Given the description of an element on the screen output the (x, y) to click on. 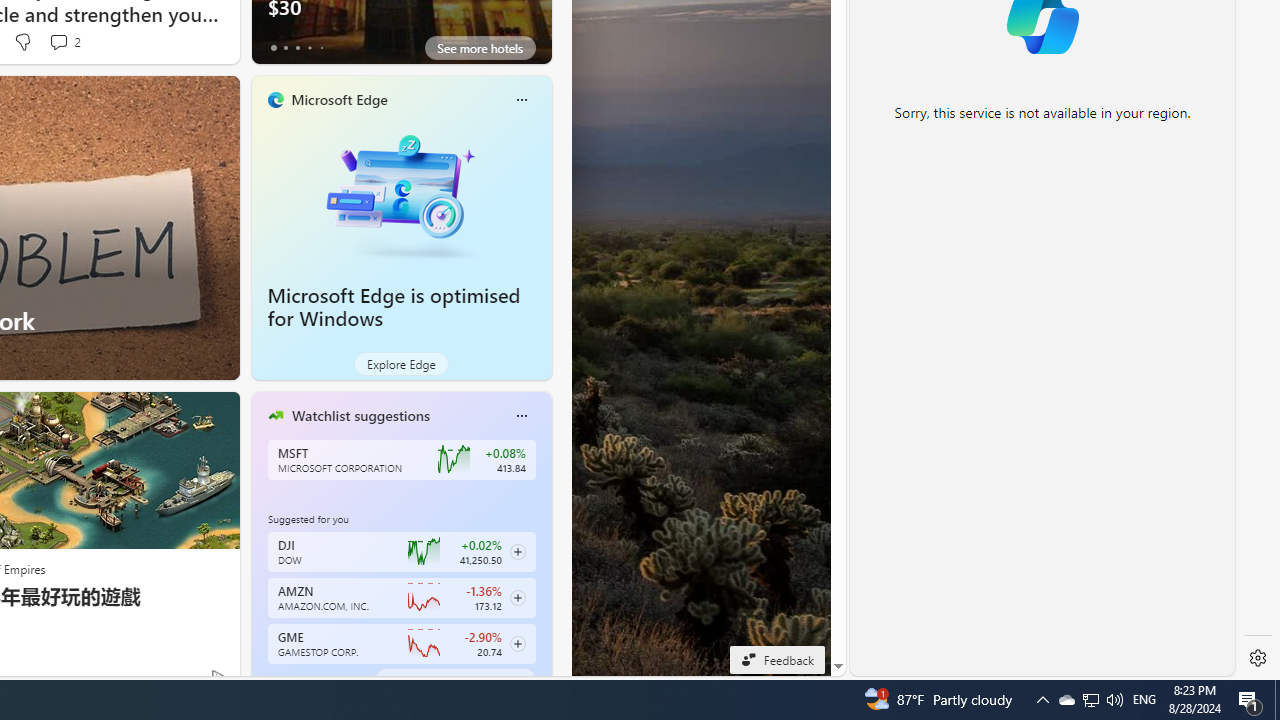
View comments 2 Comment (58, 41)
Microsoft Edge is optimised for Windows (393, 307)
View comments 2 Comment (64, 42)
More options (521, 415)
tab-1 (285, 679)
Watchlist suggestions (360, 415)
tab-2 (297, 679)
See watchlist suggestions (454, 679)
Settings (1258, 658)
Dislike (21, 42)
